Given the description of an element on the screen output the (x, y) to click on. 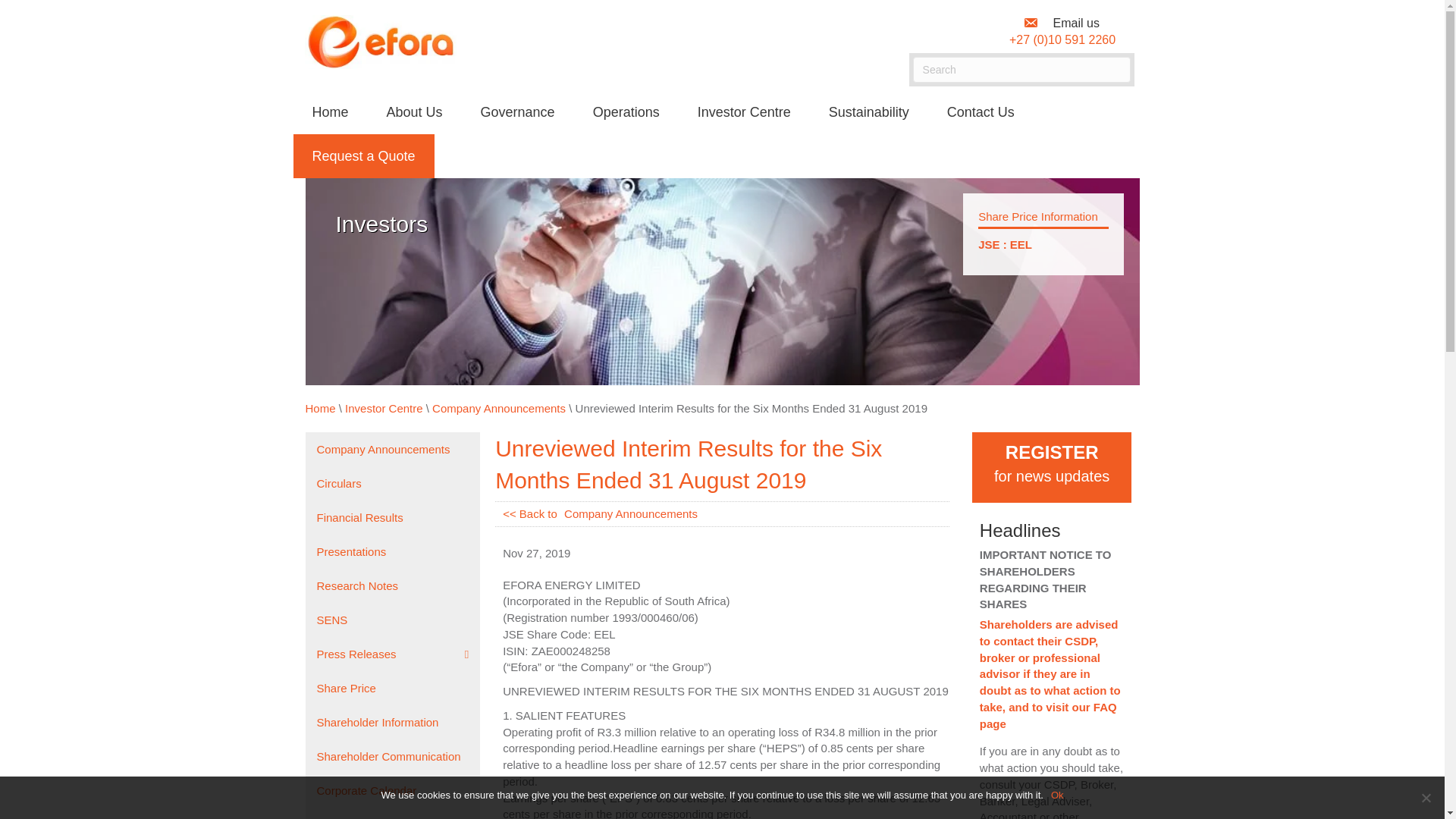
Efora Logo (380, 41)
No (1425, 797)
Type and press Enter to search. (1021, 69)
